Given the description of an element on the screen output the (x, y) to click on. 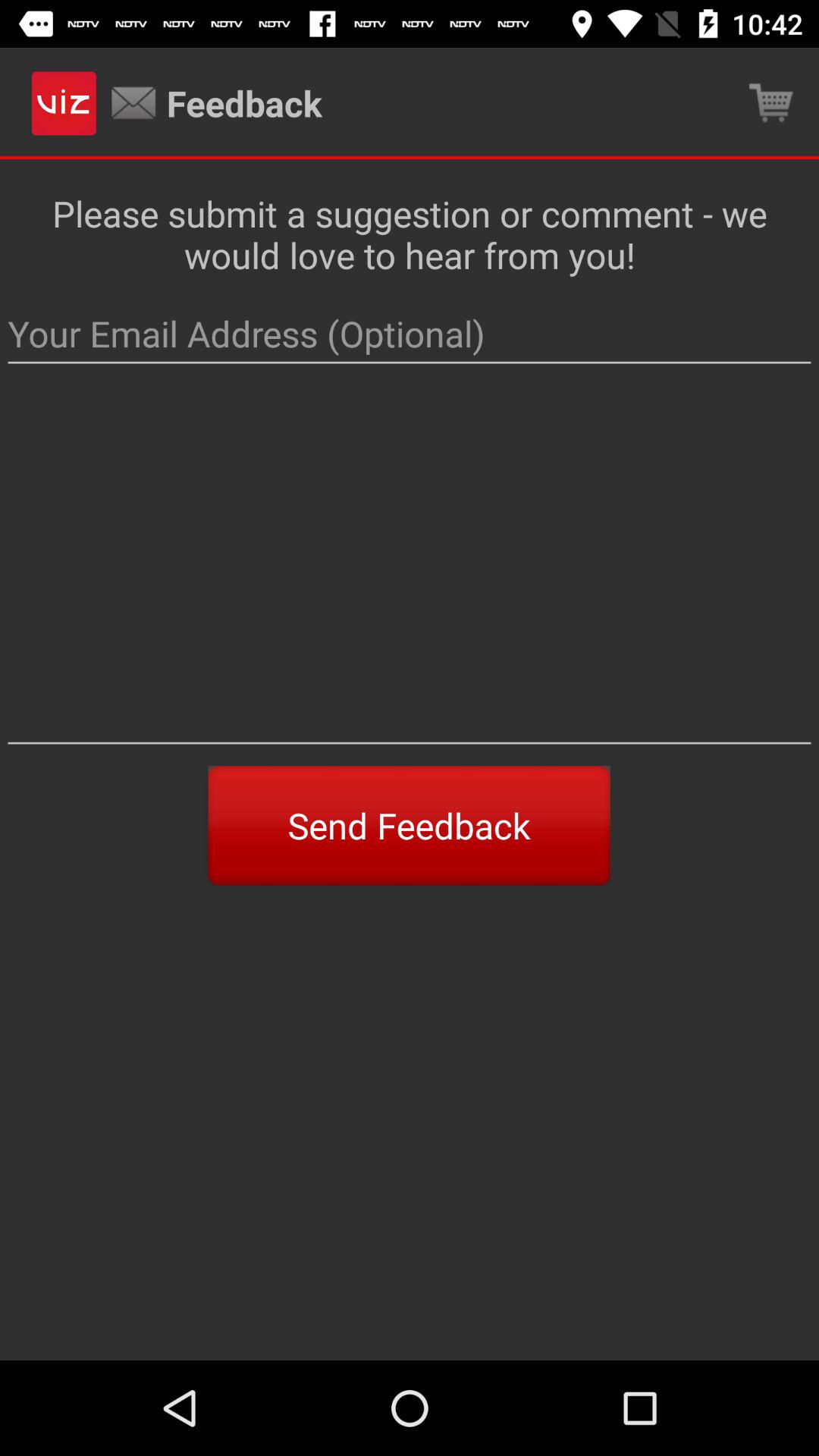
launch item above the please submit a icon (771, 103)
